Given the description of an element on the screen output the (x, y) to click on. 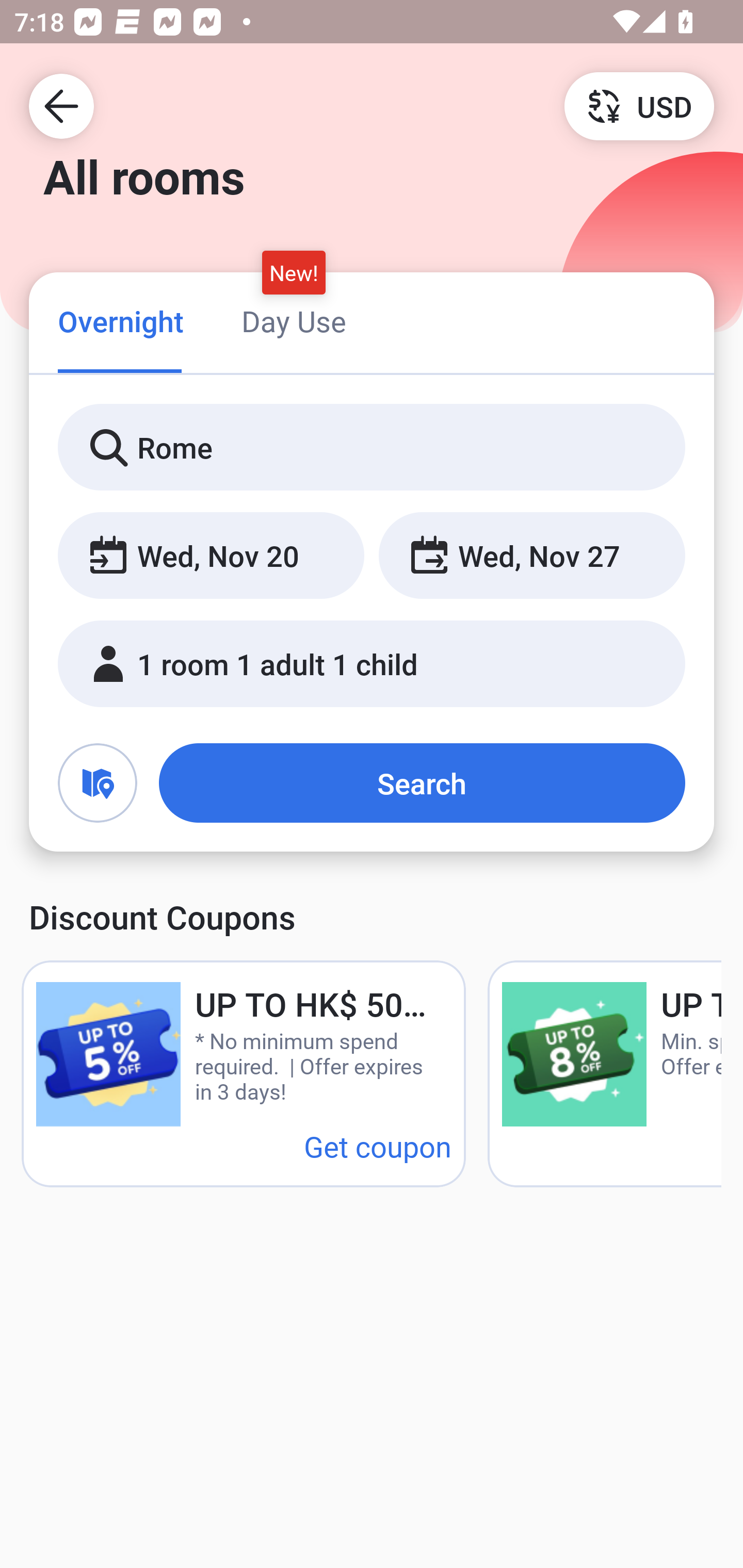
USD (639, 105)
New! (294, 272)
Day Use (293, 321)
Rome (371, 447)
Wed, Nov 20 (210, 555)
Wed, Nov 27 (531, 555)
1 room 1 adult 1 child (371, 663)
Search (422, 783)
Get coupon (377, 1146)
